Given the description of an element on the screen output the (x, y) to click on. 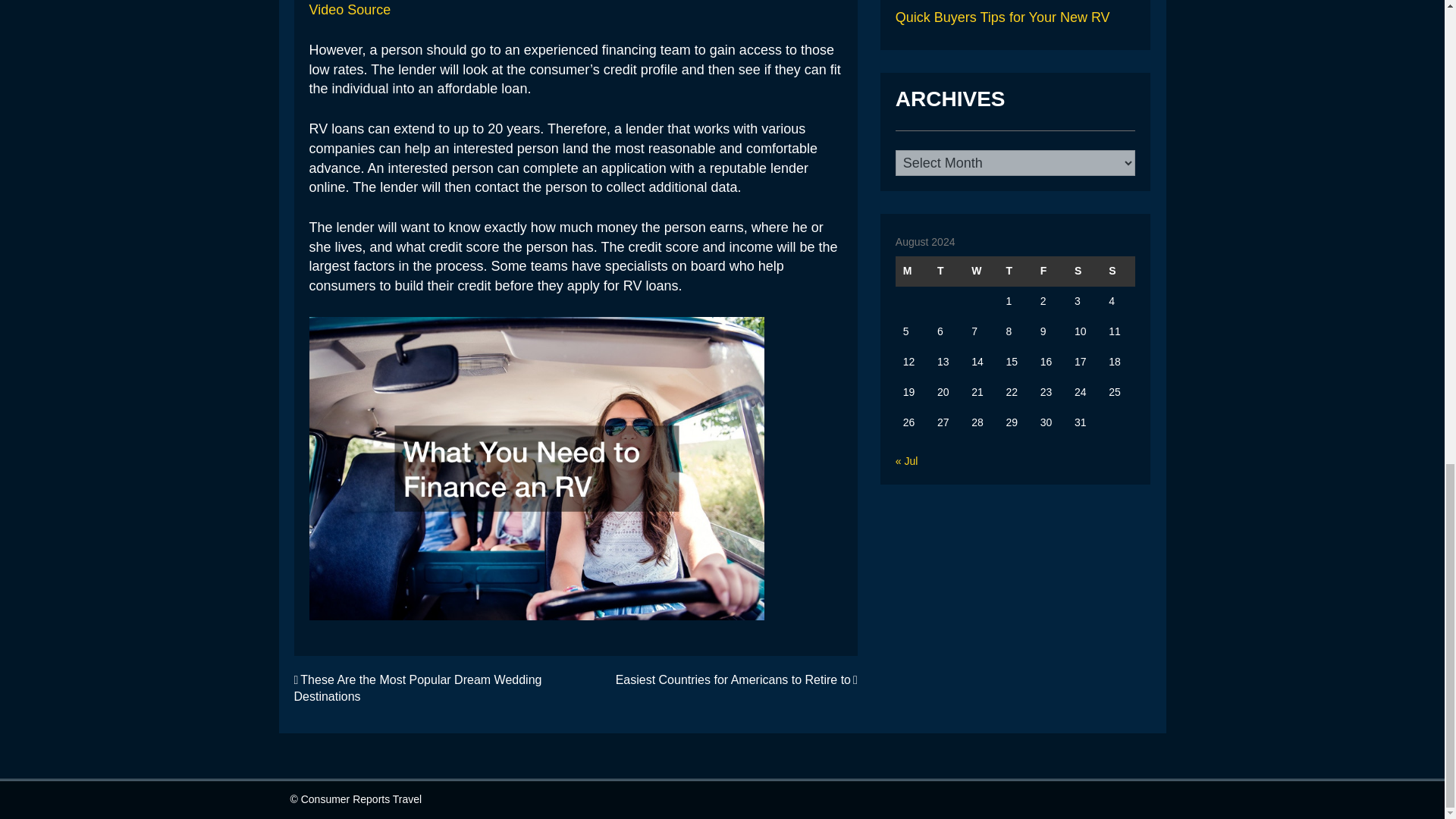
Sunday (1117, 271)
Friday (1049, 271)
Monday (912, 271)
Tuesday (946, 271)
Easiest Countries for Americans to Retire to (736, 679)
Saturday (1083, 271)
Quick Buyers Tips for Your New RV (1002, 17)
Video Source (349, 9)
Thursday (1015, 271)
These Are the Most Popular Dream Wedding Destinations (417, 688)
